Given the description of an element on the screen output the (x, y) to click on. 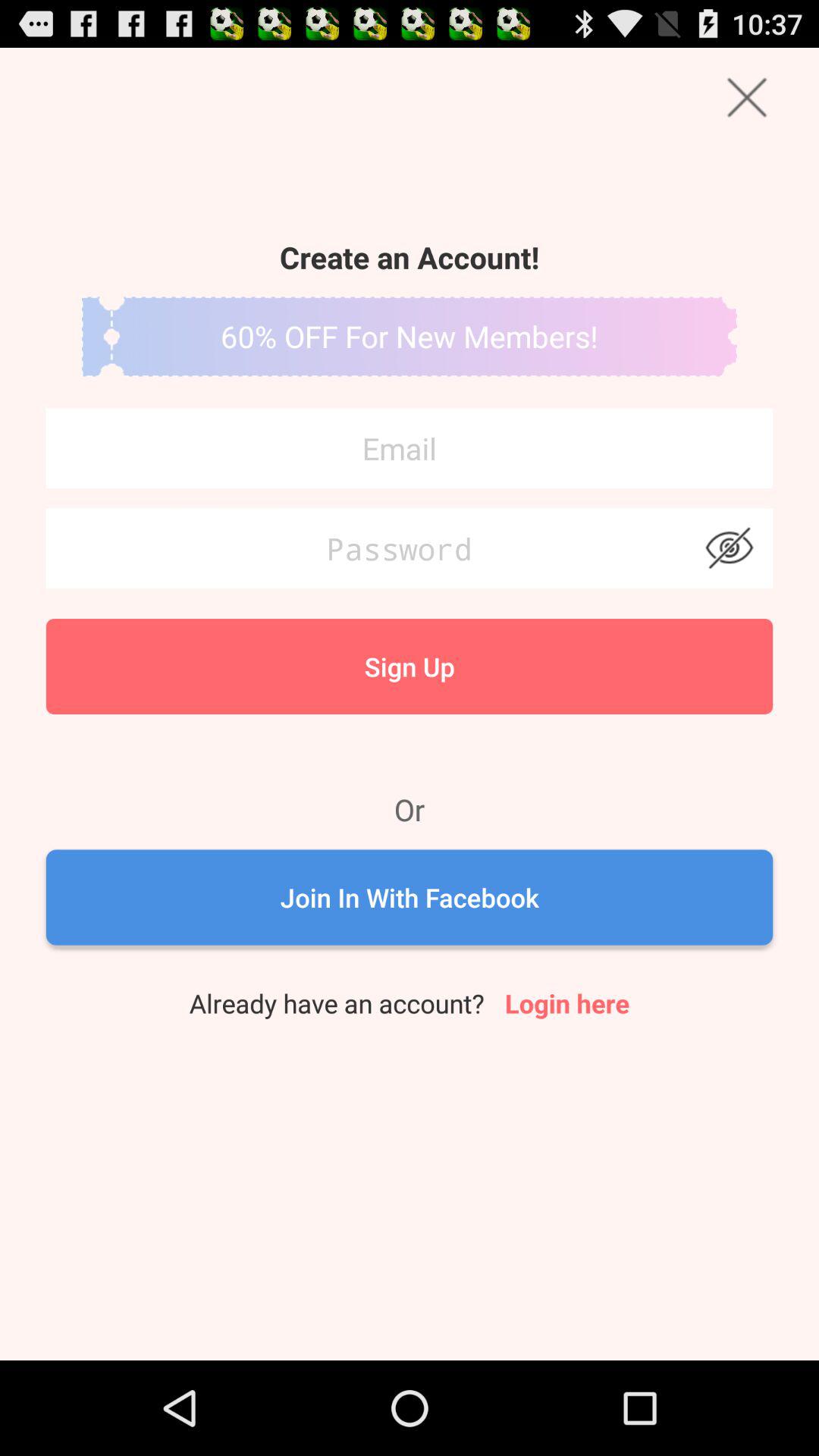
hide/unhide password (729, 548)
